Given the description of an element on the screen output the (x, y) to click on. 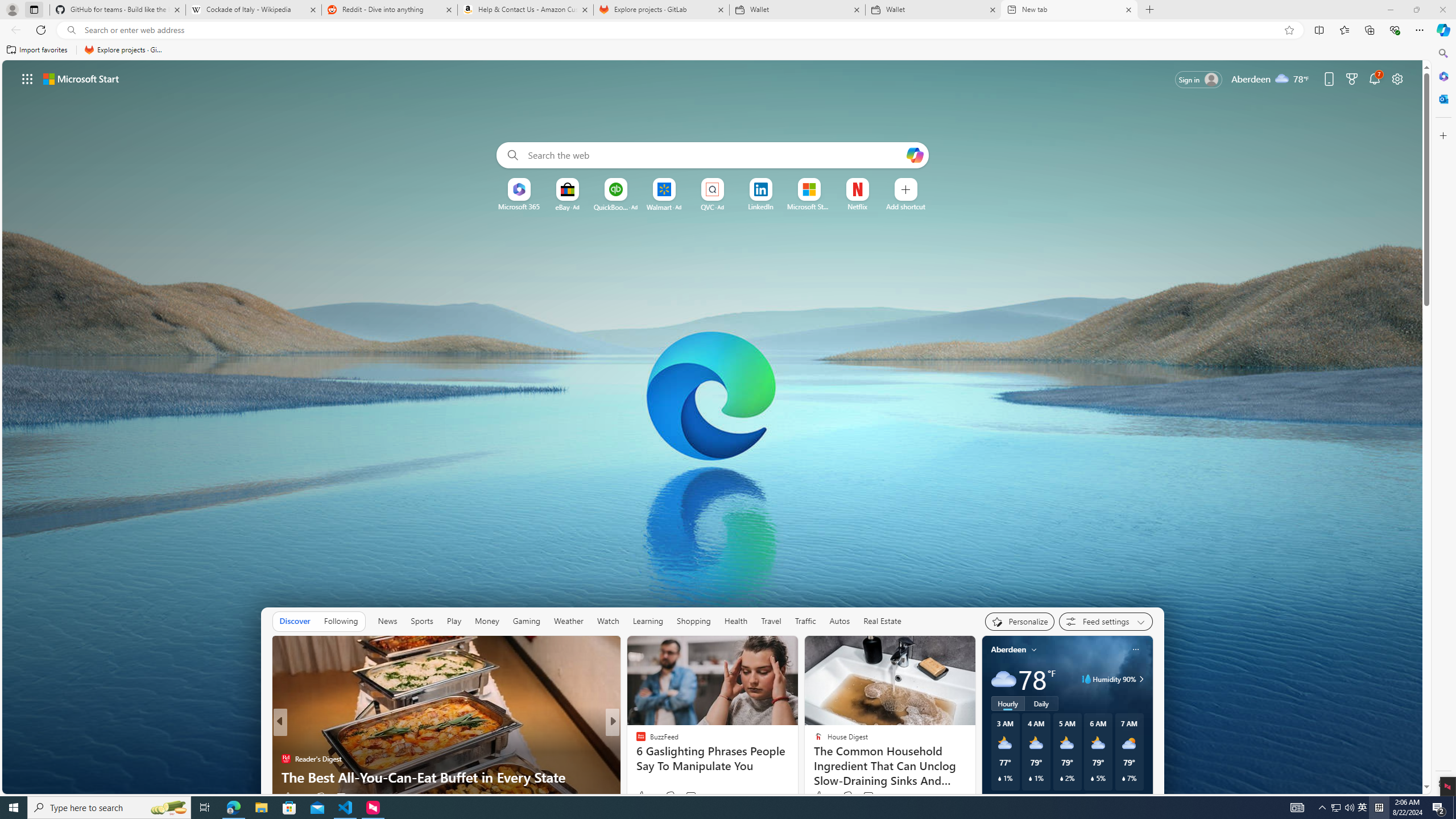
AutomationID: backgroundImagePicture (712, 426)
Microsoft 365 (518, 206)
Reddit - Dive into anything (390, 9)
Newsweek (286, 758)
DNC TV Ratings Compared to the RNC (446, 777)
